Given the description of an element on the screen output the (x, y) to click on. 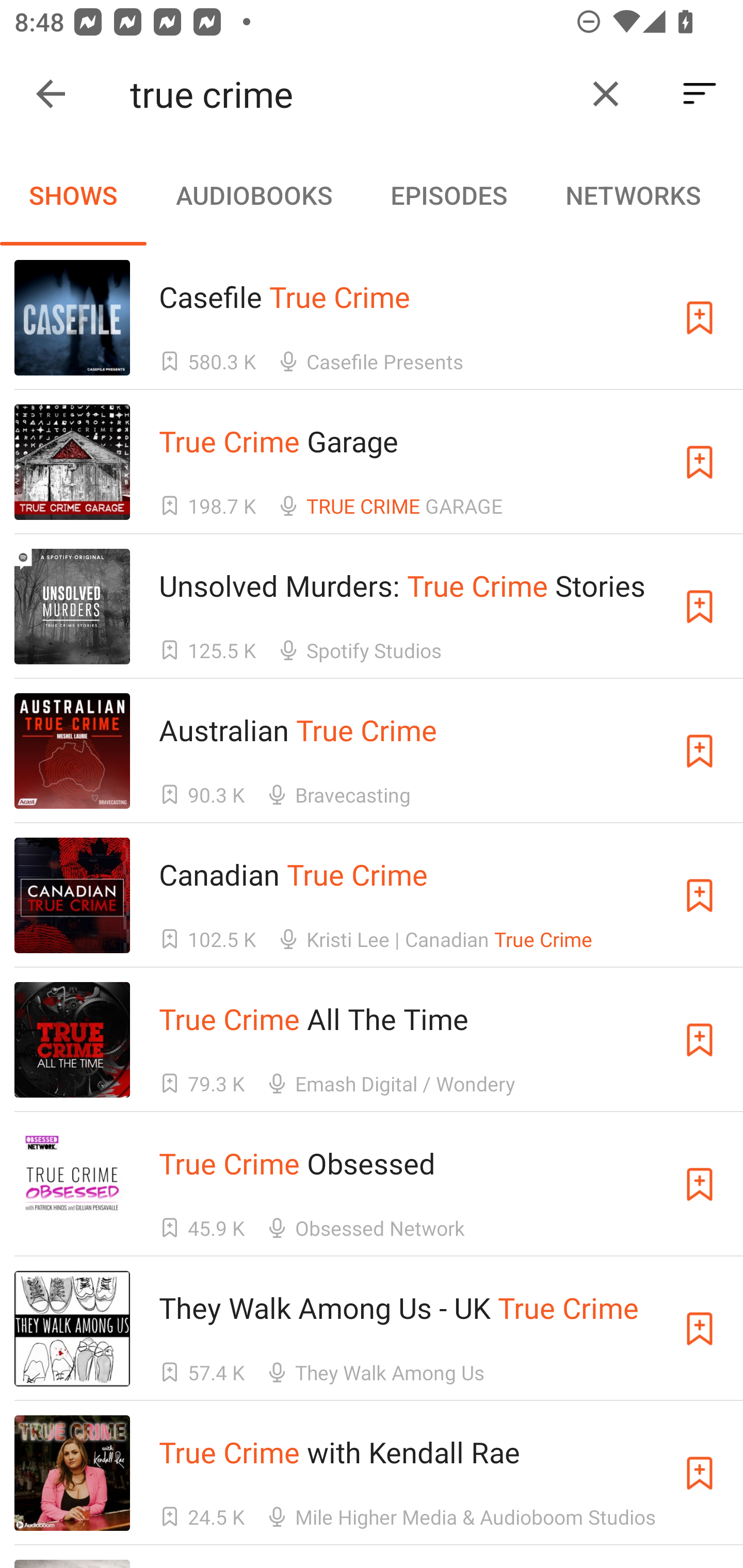
Collapse (50, 93)
Clear query (605, 93)
Sort By (699, 93)
true crime (349, 94)
SHOWS (73, 195)
AUDIOBOOKS (253, 195)
EPISODES (448, 195)
NETWORKS (632, 195)
Subscribe (699, 317)
Subscribe (699, 462)
Subscribe (699, 606)
Subscribe (699, 751)
Subscribe (699, 895)
Subscribe (699, 1039)
Subscribe (699, 1183)
Subscribe (699, 1328)
Subscribe (699, 1472)
